Given the description of an element on the screen output the (x, y) to click on. 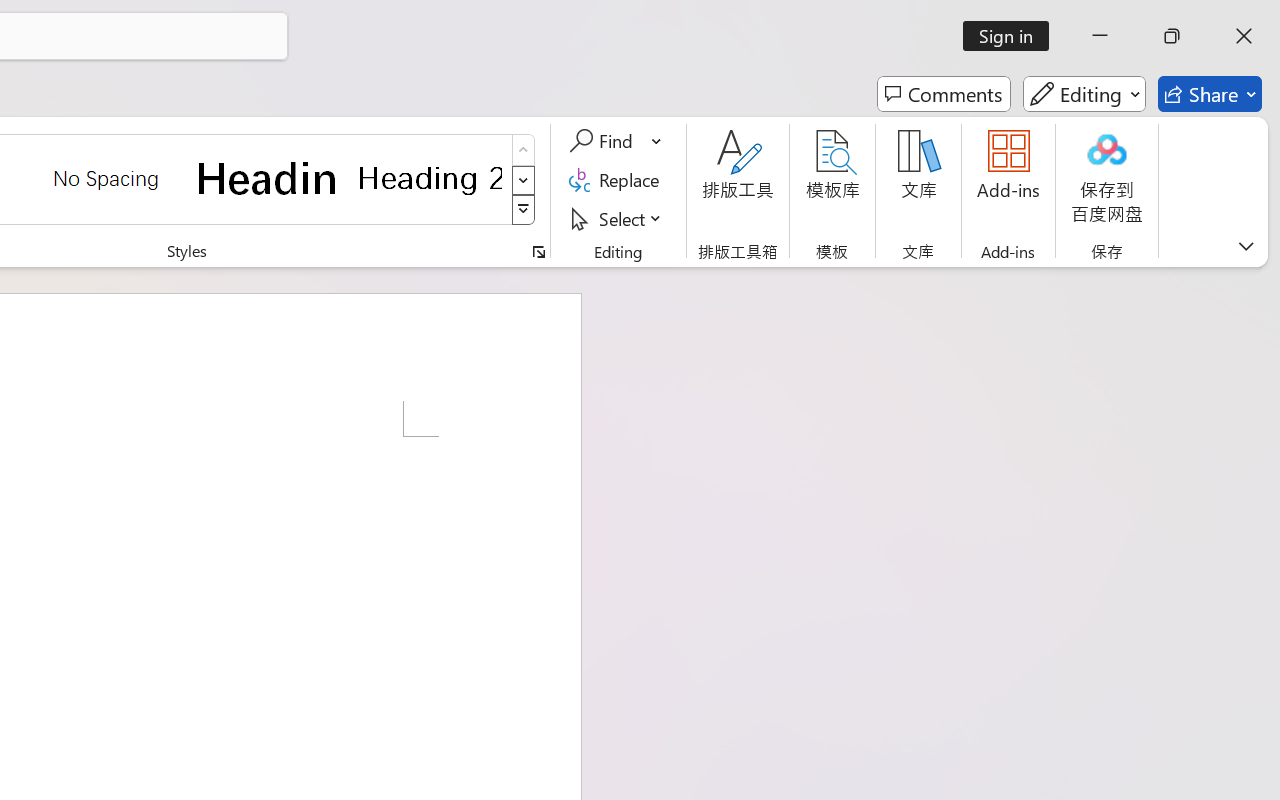
Sign in (1012, 35)
